Given the description of an element on the screen output the (x, y) to click on. 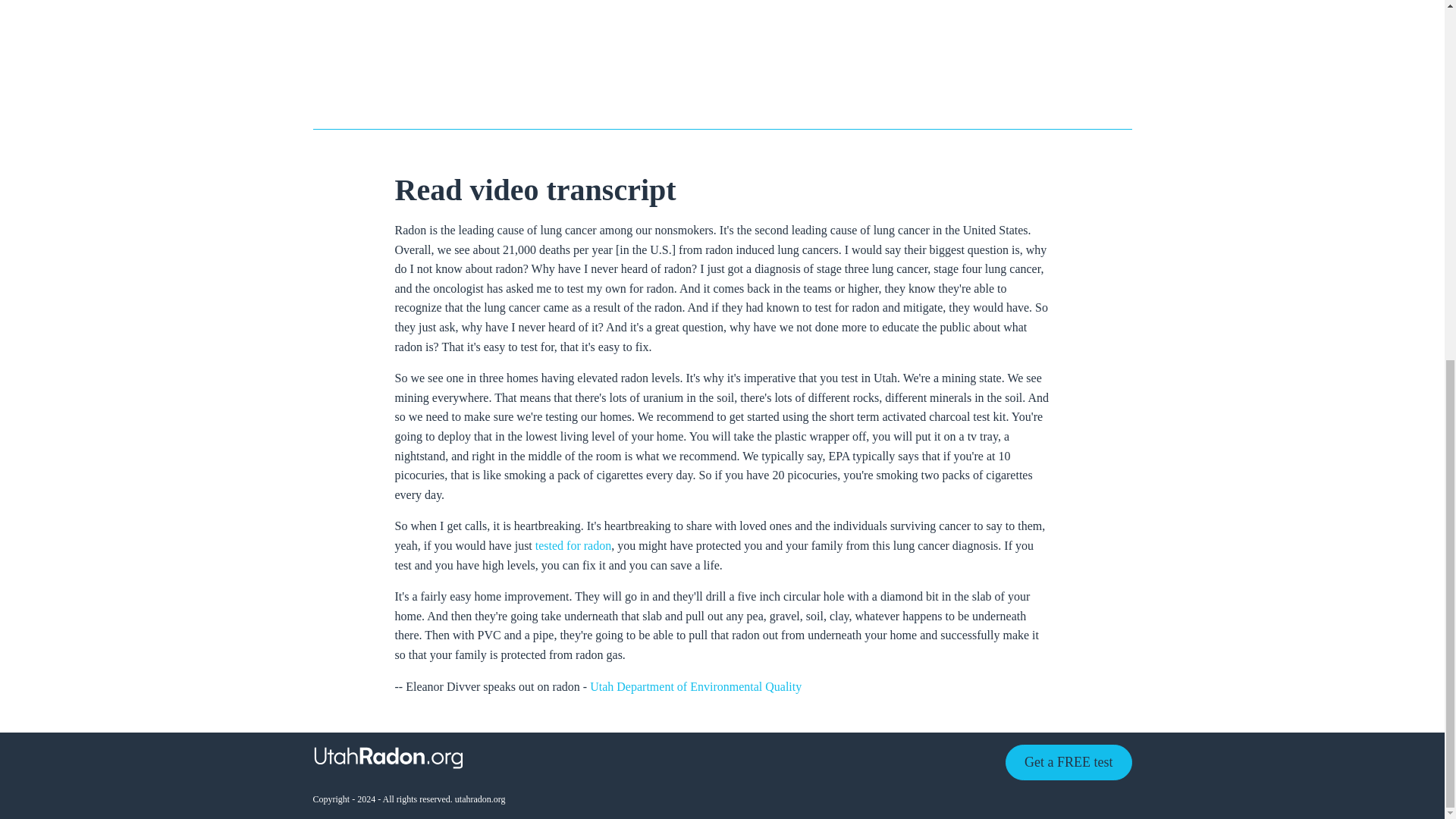
Utah Department of Environmental Quality (695, 686)
tested for radon (573, 545)
Get a FREE test (1068, 762)
